Given the description of an element on the screen output the (x, y) to click on. 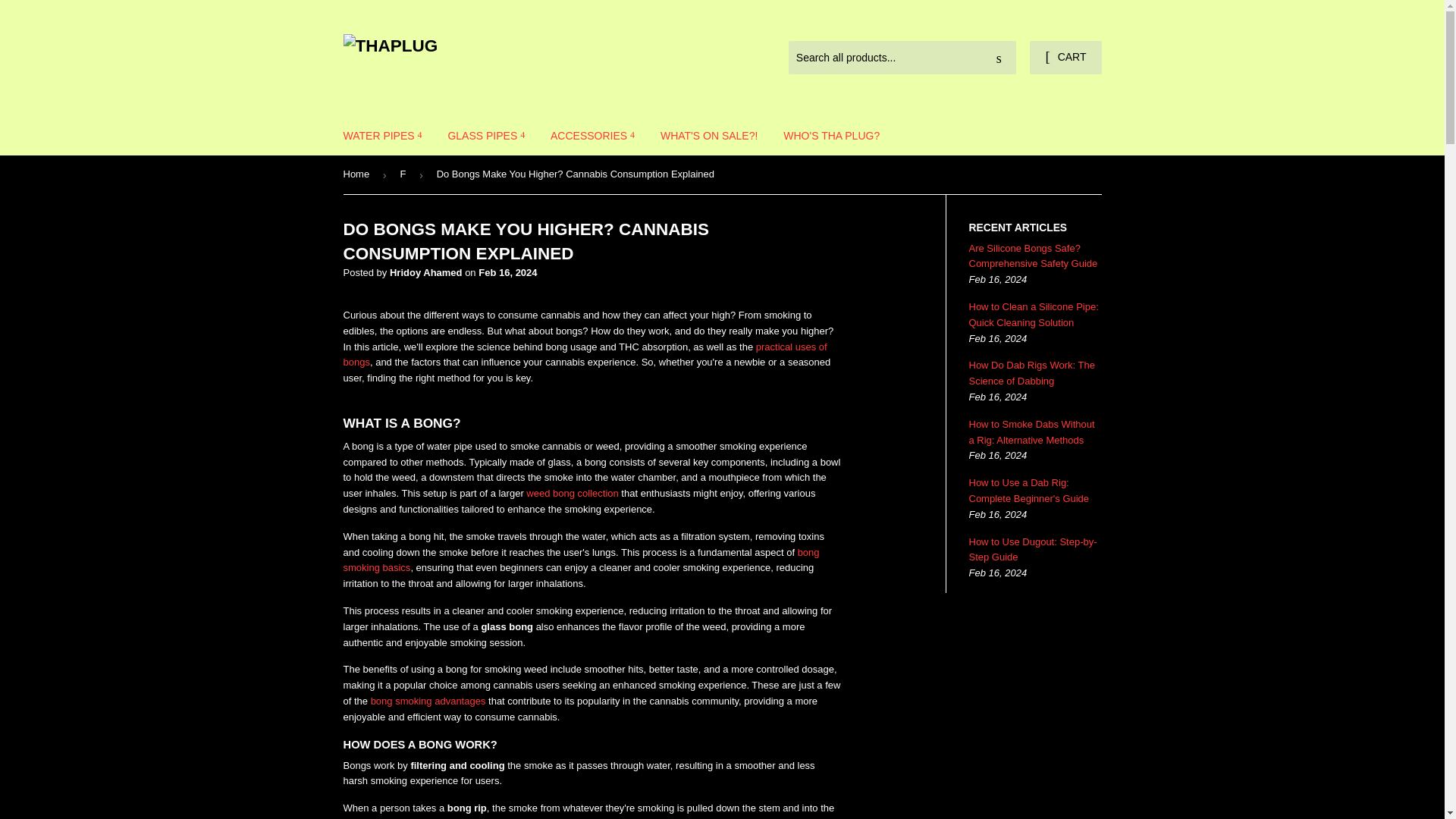
CART (1064, 57)
WATER PIPES (382, 135)
Search (998, 58)
